Given the description of an element on the screen output the (x, y) to click on. 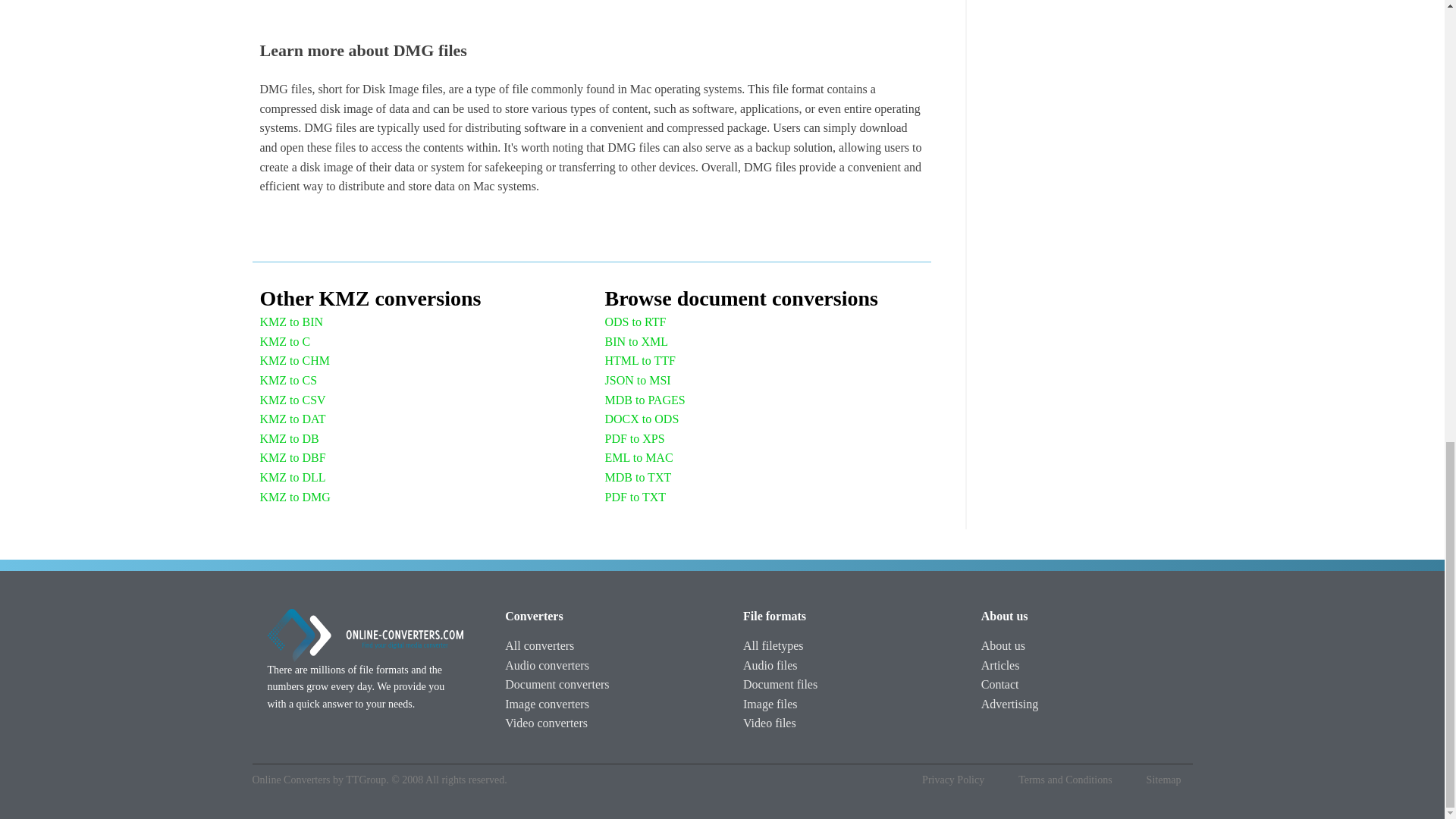
KMZ to DMG (294, 496)
ODS to RTF (635, 322)
KMZ to BIN (291, 322)
PDF to XPS (635, 438)
All converters (539, 646)
Advertisement (1087, 74)
KMZ to DB (288, 438)
HTML to TTF (640, 361)
KMZ to DBF (291, 457)
KMZ to CS (288, 380)
